Given the description of an element on the screen output the (x, y) to click on. 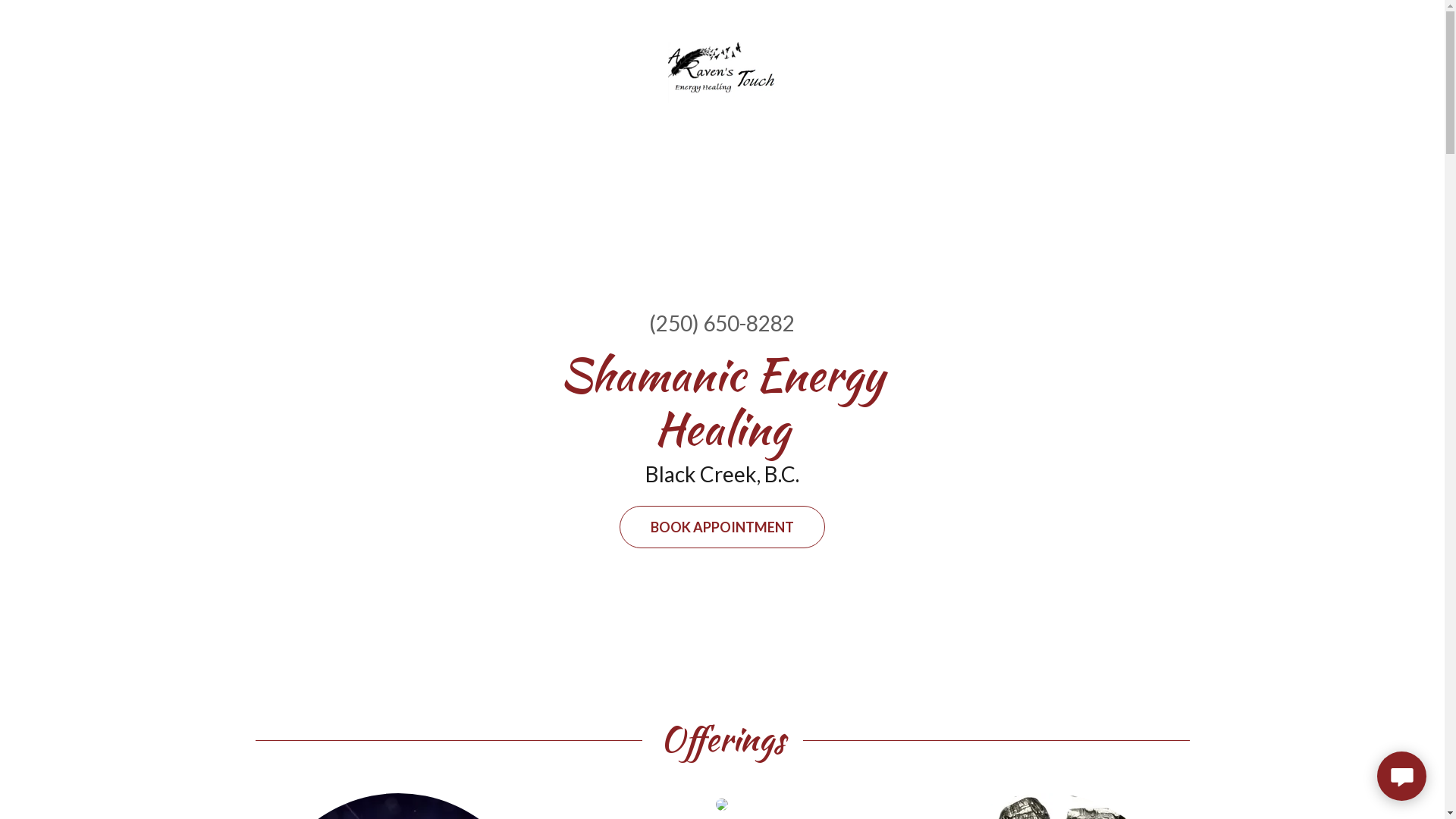
(250) 650-8282 Element type: text (721, 322)
BOOK APPOINTMENT Element type: text (722, 526)
